Given the description of an element on the screen output the (x, y) to click on. 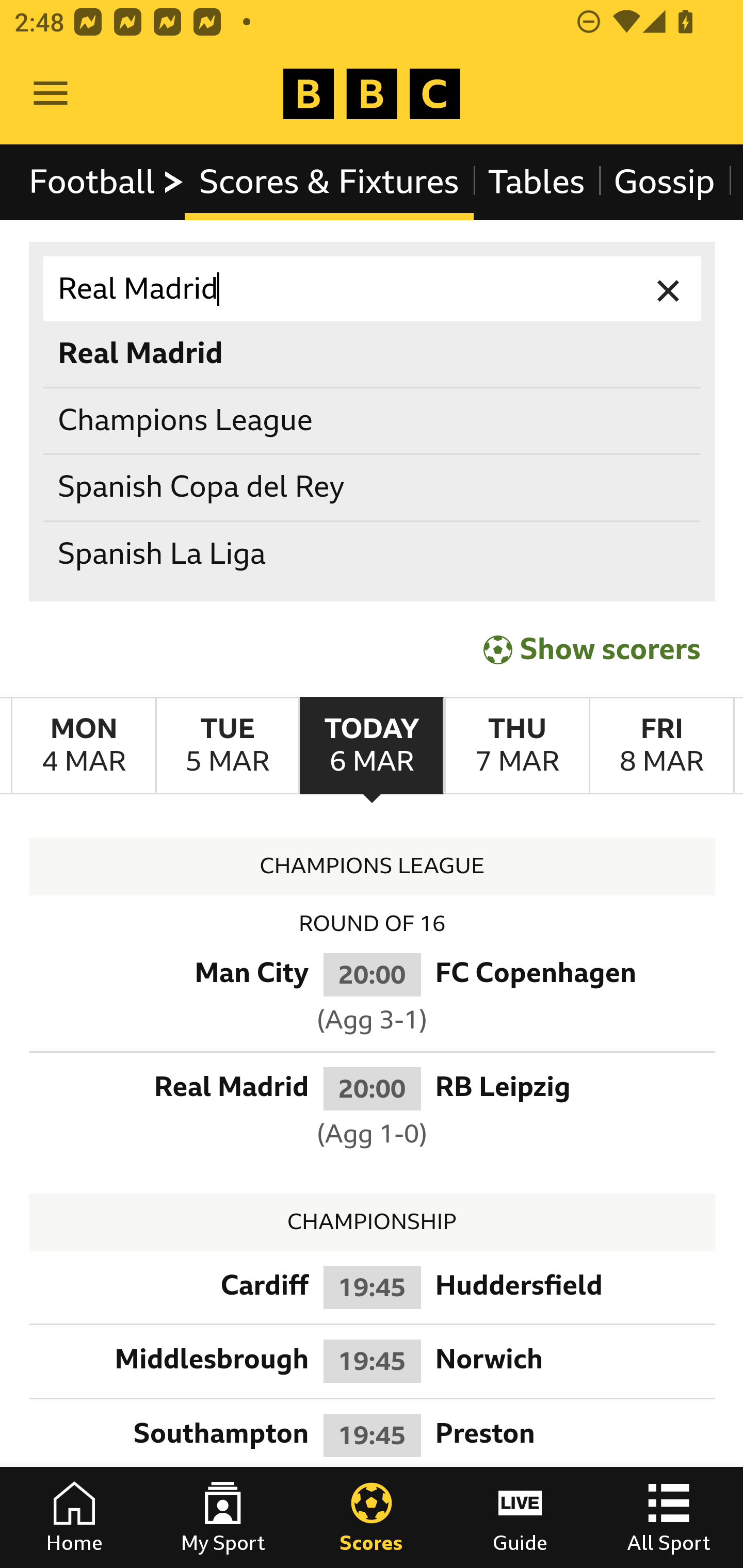
Open Menu (50, 93)
Football  (106, 181)
Scores & Fixtures (329, 181)
Tables (536, 181)
Gossip (664, 181)
Real Madrid (372, 289)
Clear input (669, 289)
Champions League (372, 419)
Spanish Copa del Rey (372, 488)
Spanish La Liga (372, 554)
Show scorers (591, 647)
MondayMarch 4th Monday March 4th (83, 745)
TuesdayMarch 5th Tuesday March 5th (227, 745)
ThursdayMarch 7th Thursday March 7th (516, 745)
FridayMarch 8th Friday March 8th (661, 745)
Home (74, 1517)
My Sport (222, 1517)
Guide (519, 1517)
All Sport (668, 1517)
